Given the description of an element on the screen output the (x, y) to click on. 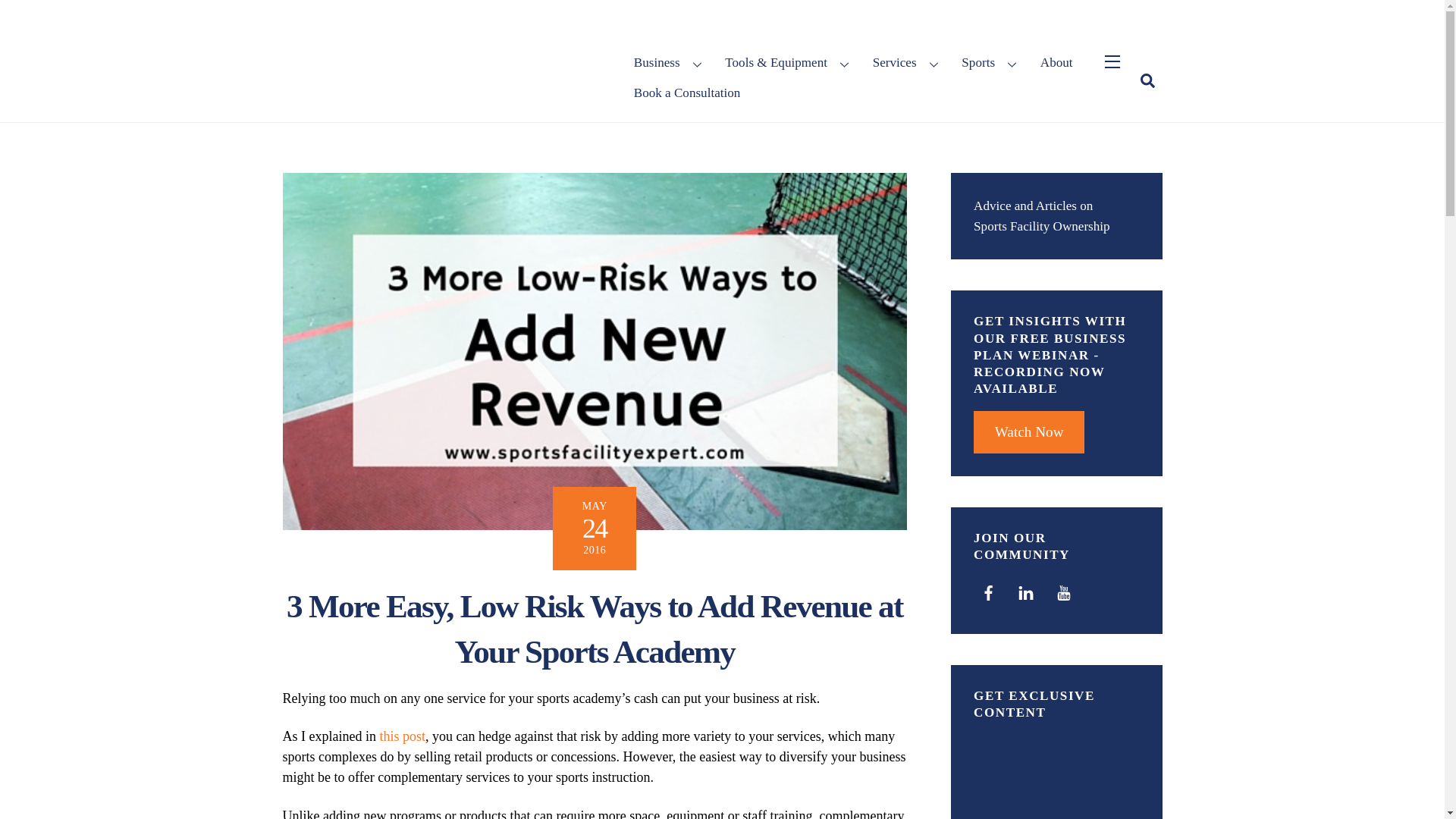
Services (907, 62)
Sports (991, 62)
Book a Consultation (685, 92)
Search (1146, 80)
About (1055, 62)
Sports Facility Management Expert (448, 31)
Business (670, 62)
